Given the description of an element on the screen output the (x, y) to click on. 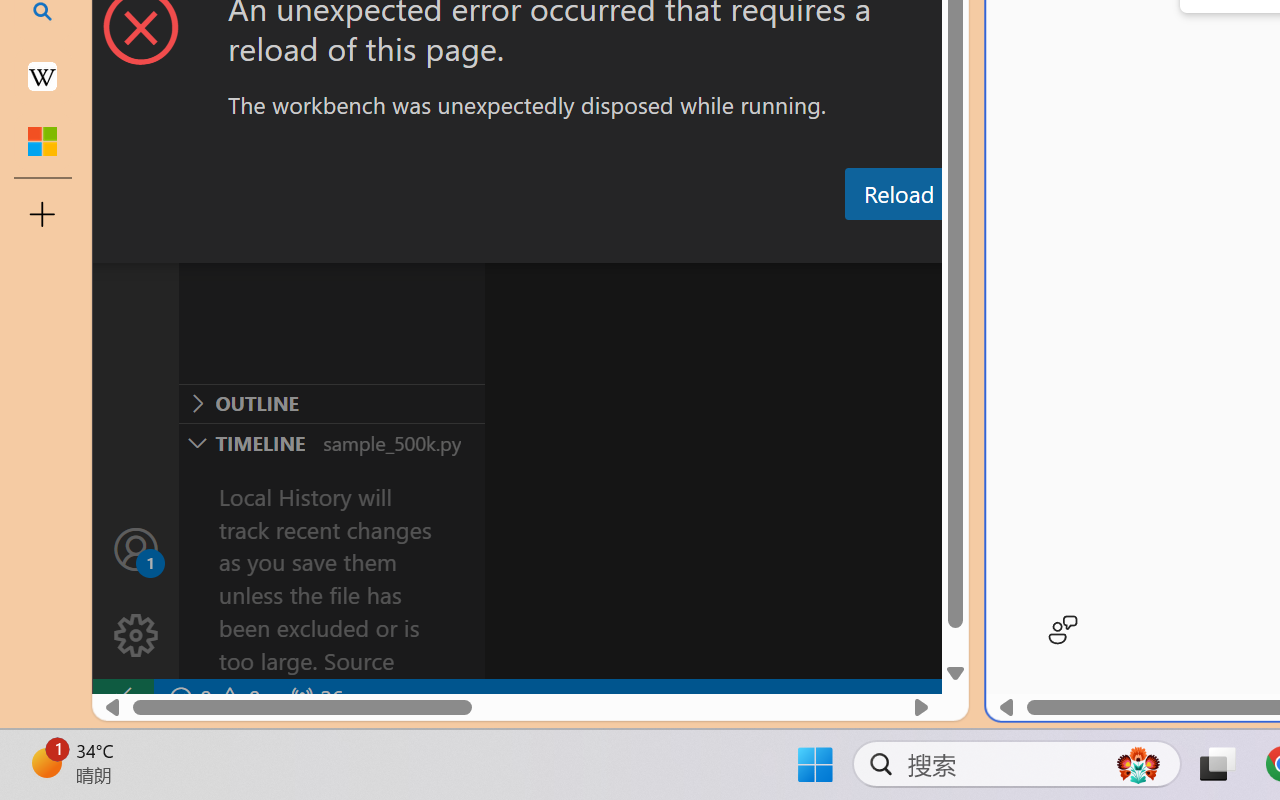
remote (122, 698)
Output (Ctrl+Shift+U) (696, 243)
Earth - Wikipedia (42, 75)
Debug Console (Ctrl+Shift+Y) (854, 243)
Terminal (Ctrl+`) (1021, 243)
Timeline Section (331, 442)
Manage (135, 591)
Accounts - Sign in requested (135, 548)
Manage (135, 635)
Outline Section (331, 403)
